Given the description of an element on the screen output the (x, y) to click on. 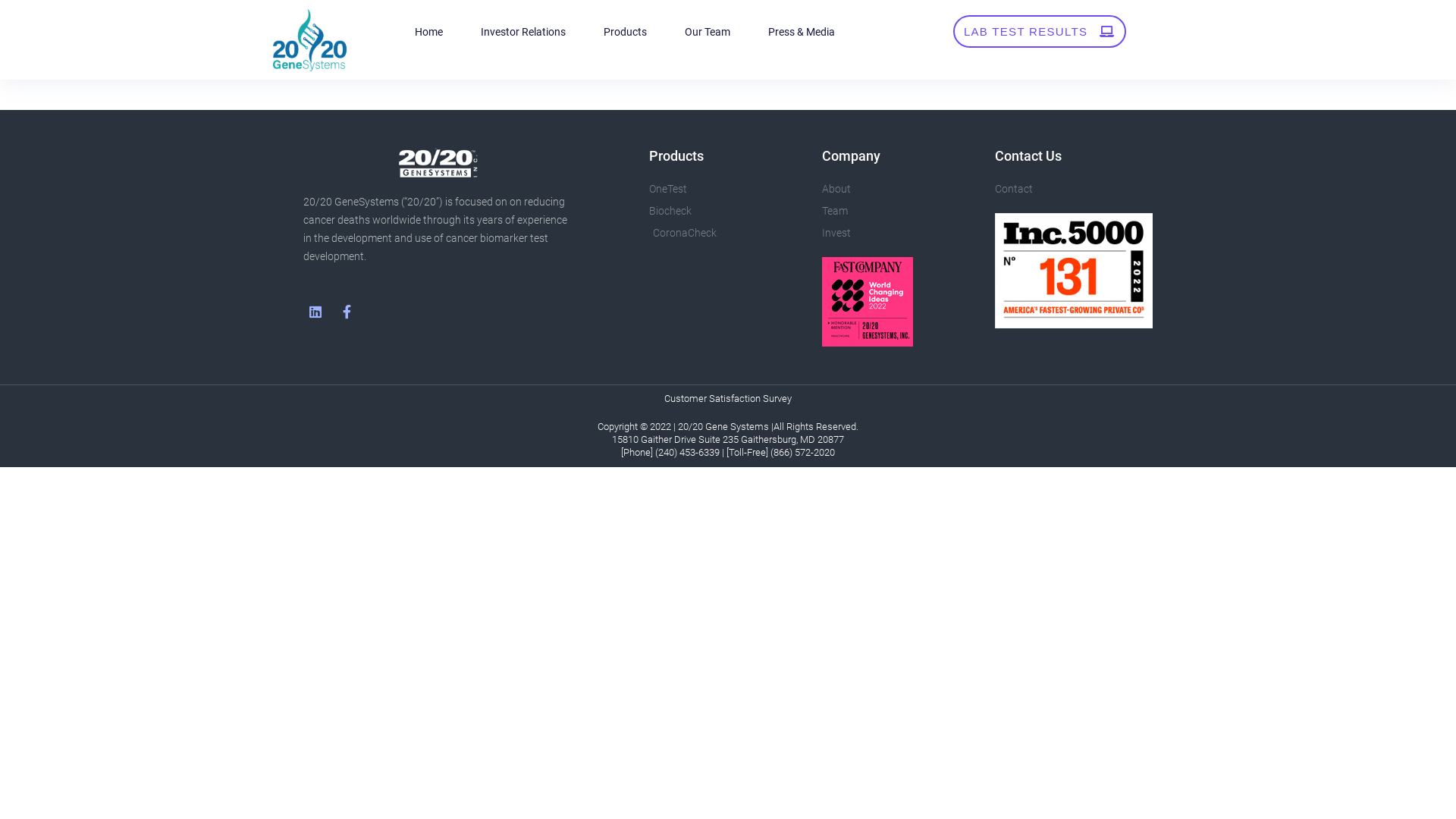
Invest Element type: text (900, 232)
(866) 572-2020 Element type: text (802, 452)
Linkedin Element type: text (315, 310)
Team Element type: text (900, 210)
Products Element type: text (624, 31)
OneTest Element type: text (727, 188)
Investor Relations Element type: text (522, 31)
Biocheck Element type: text (727, 210)
Home Element type: text (428, 31)
LAB TEST RESULTS Element type: text (1039, 31)
Customer Satisfaction Survey Element type: text (727, 398)
CoronaCheck Element type: text (727, 232)
Facebook-f Element type: text (346, 310)
Contact Element type: text (1073, 188)
(240) 453-6339 Element type: text (687, 452)
Our Team Element type: text (707, 31)
About Element type: text (900, 188)
Press & Media Element type: text (801, 31)
